Given the description of an element on the screen output the (x, y) to click on. 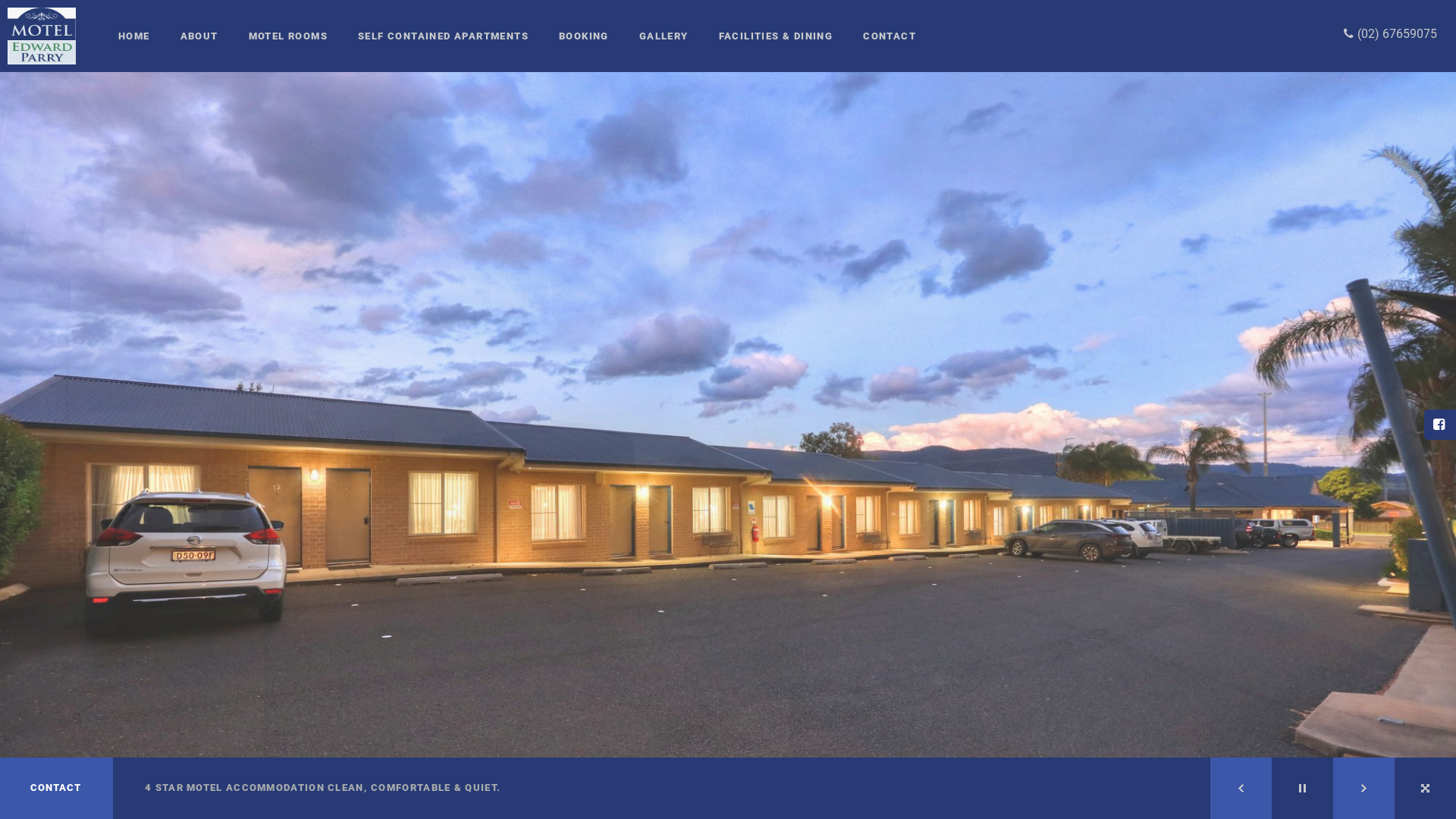
ABOUT Element type: text (199, 36)
CONTACT Element type: text (889, 36)
GALLERY Element type: text (663, 36)
Facebook Element type: hover (1440, 424)
MOTEL ROOMS Element type: text (287, 36)
SELF CONTAINED APARTMENTS Element type: text (442, 36)
FACILITIES & DINING Element type: text (775, 36)
BOOKING Element type: text (583, 36)
(02) 67659075 Element type: text (1395, 33)
HOME Element type: text (134, 36)
